Given the description of an element on the screen output the (x, y) to click on. 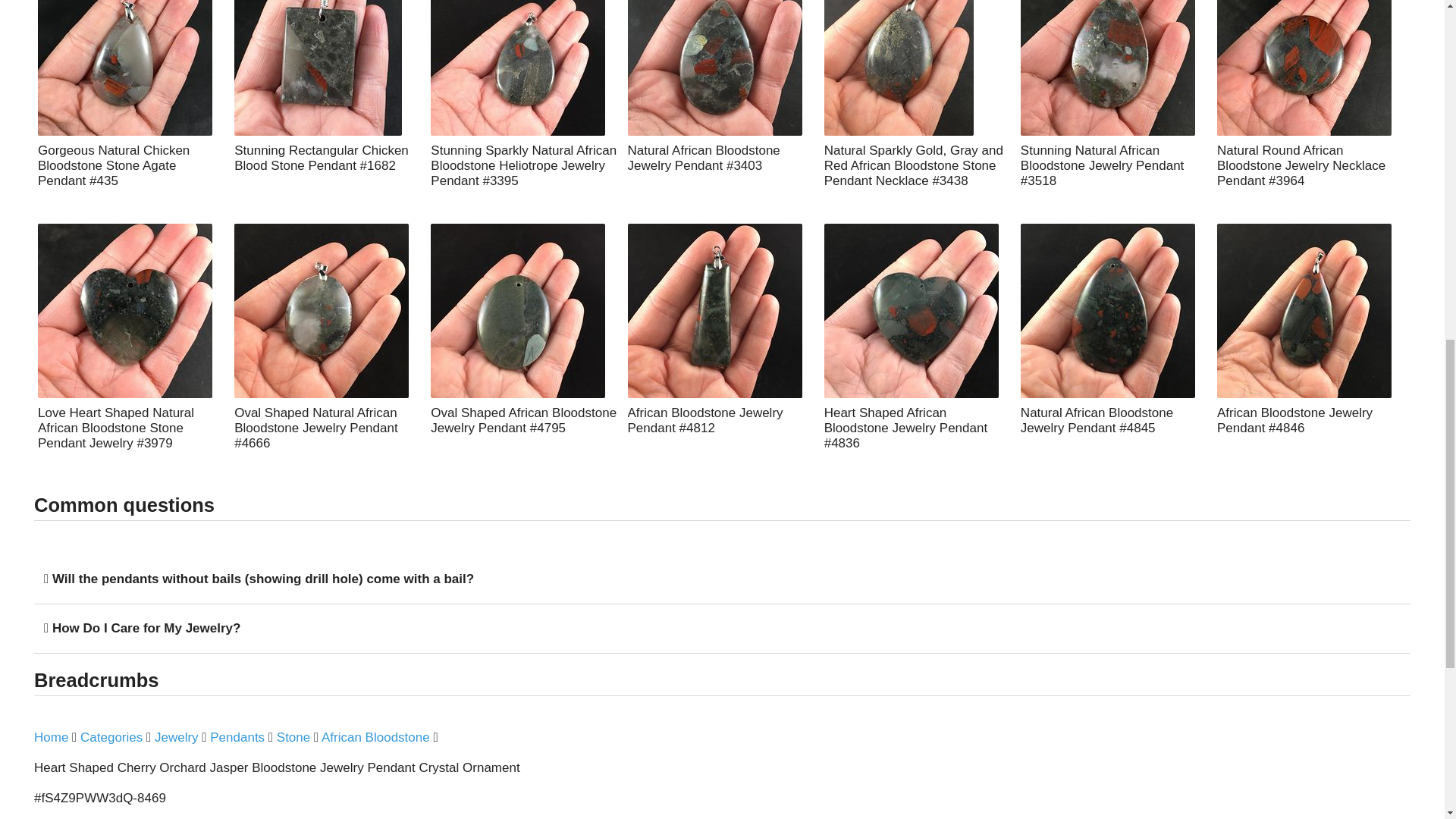
How Do I Care for My Jewelry? (141, 628)
African Bloodstone (375, 738)
Categories (111, 738)
Pendants (236, 738)
Stone (293, 738)
Jewelry (176, 738)
Home (50, 738)
